Given the description of an element on the screen output the (x, y) to click on. 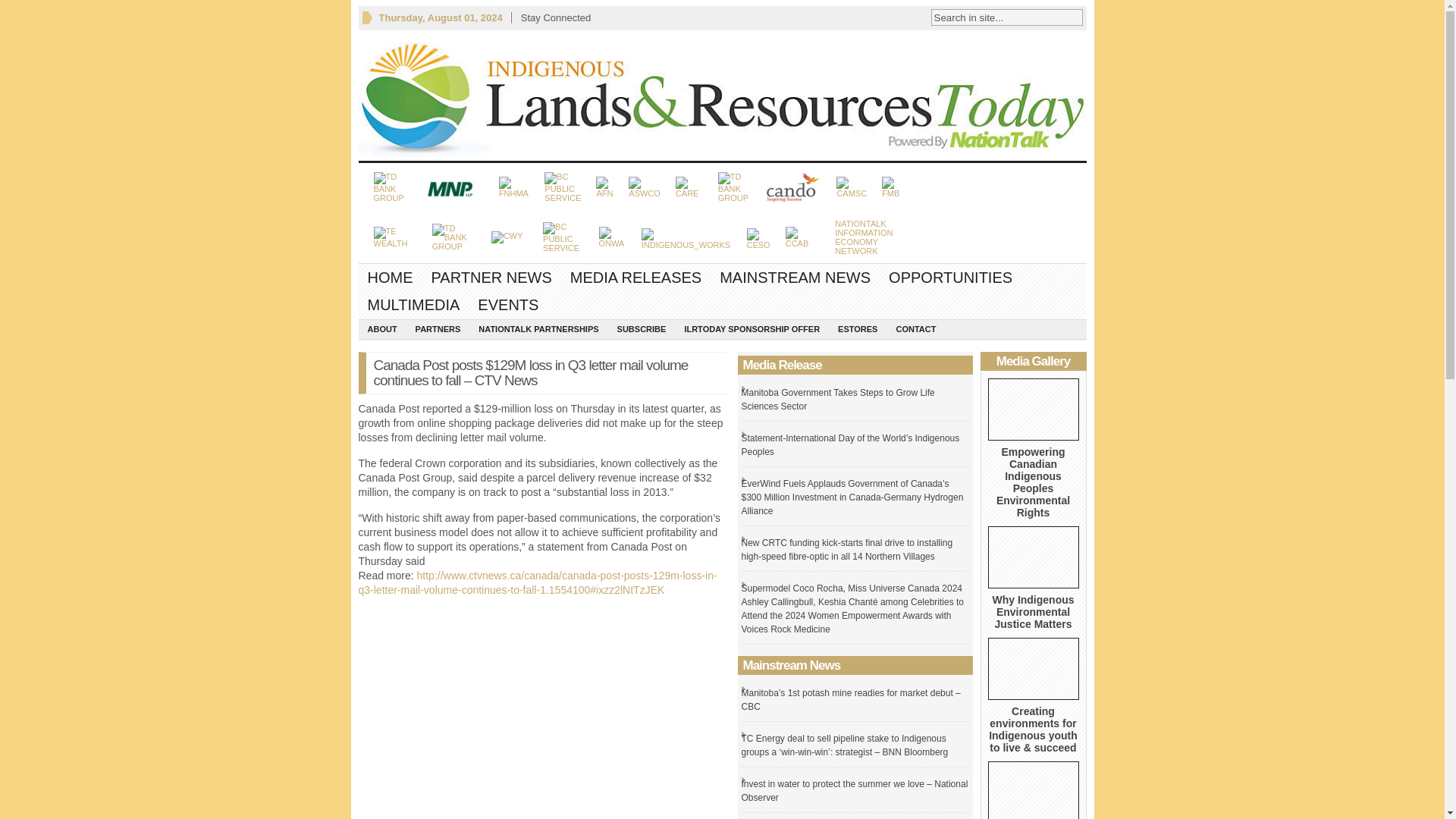
Stay Connected (555, 18)
Empowering Canadian Indigenous Peoples Environmental Rights (1033, 409)
Permalink to Why Indigenous Environmental Justice Matters (864, 237)
Today's Top Aboriginal Lands and Resources News (1032, 611)
MEDIA RELEASES (722, 95)
Why Indigenous Environmental Justice Matters (635, 277)
HOME (1033, 557)
PARTNER NEWS (390, 277)
Search in site... (491, 277)
